Given the description of an element on the screen output the (x, y) to click on. 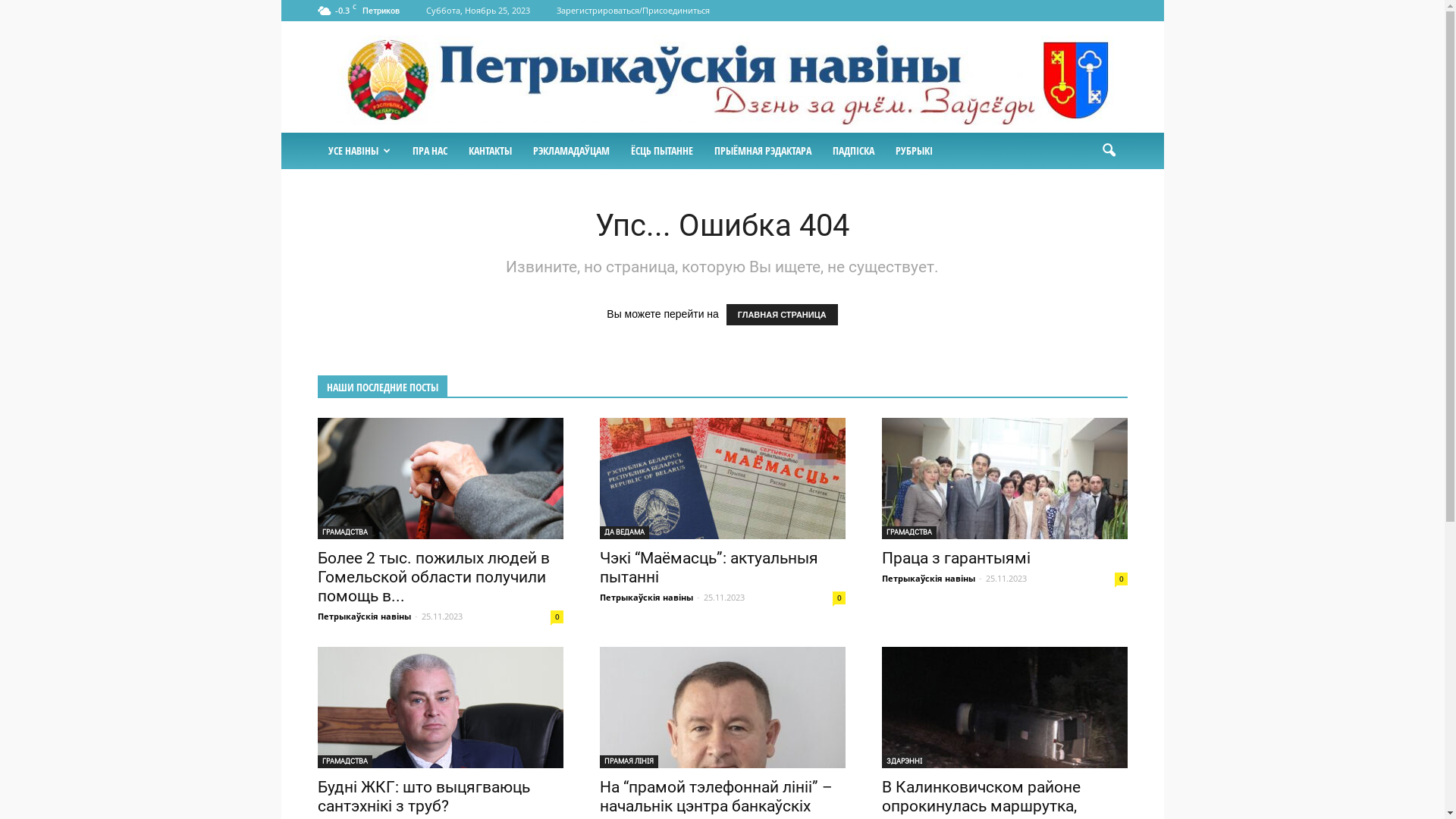
0 Element type: text (556, 616)
0 Element type: text (1120, 578)
0 Element type: text (838, 597)
